Given the description of an element on the screen output the (x, y) to click on. 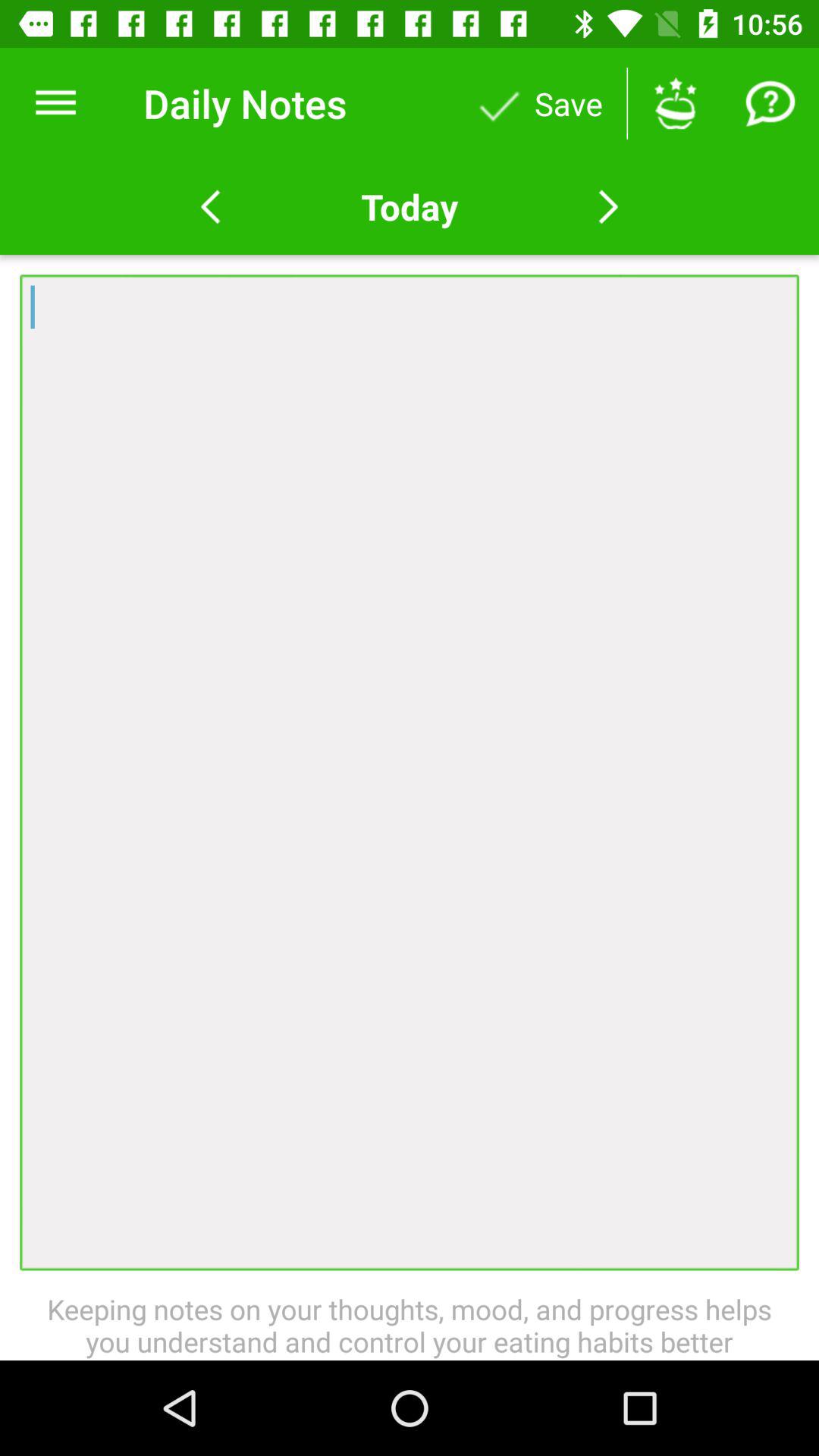
type notes (409, 772)
